Given the description of an element on the screen output the (x, y) to click on. 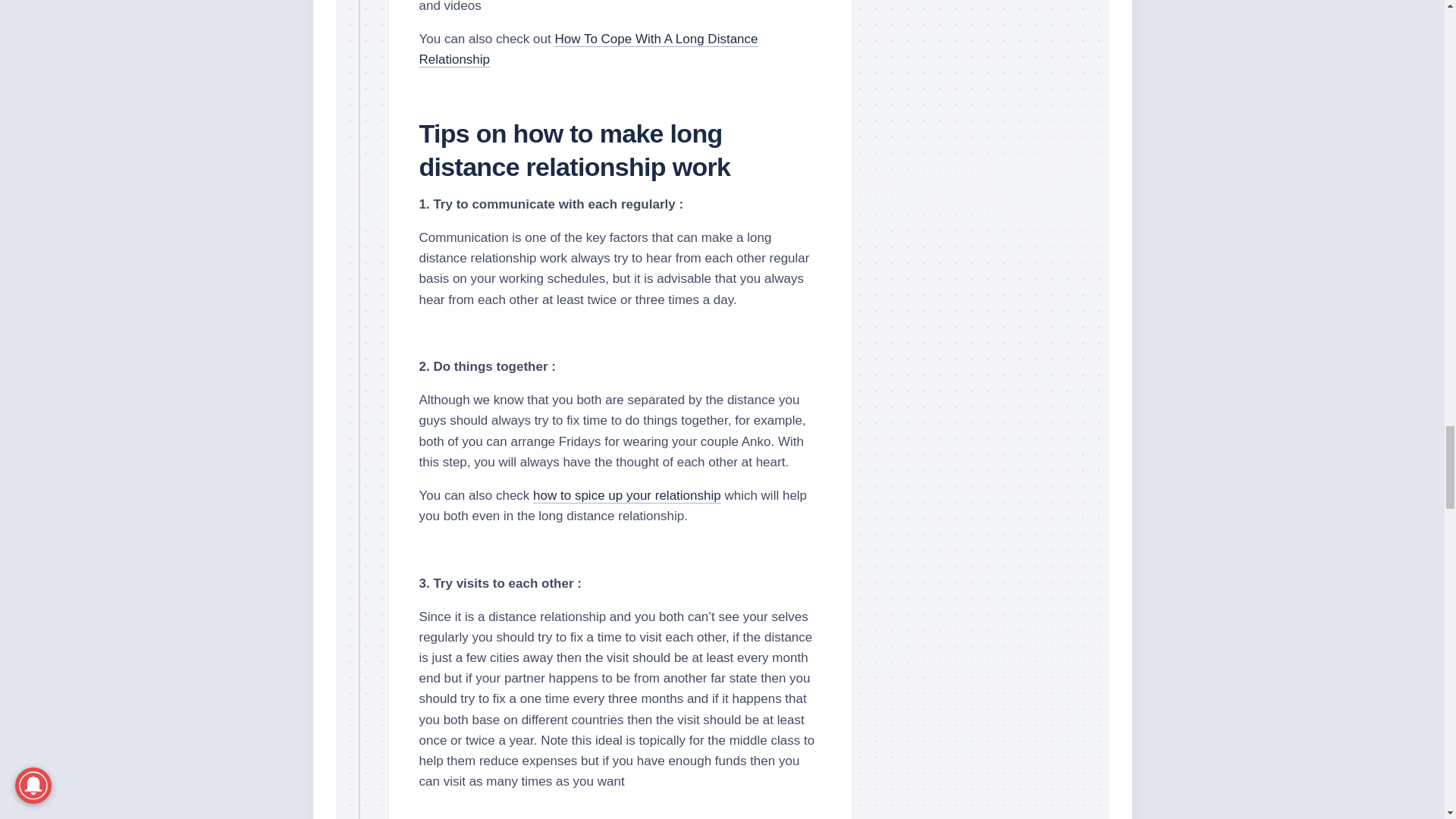
How To Cope With A Long Distance Relationship (588, 48)
How To Cope With A Long Distance Relationship (588, 48)
11 Tools that can spice up intimacy in your relationship (626, 495)
how to spice up your relationship (626, 495)
